Given the description of an element on the screen output the (x, y) to click on. 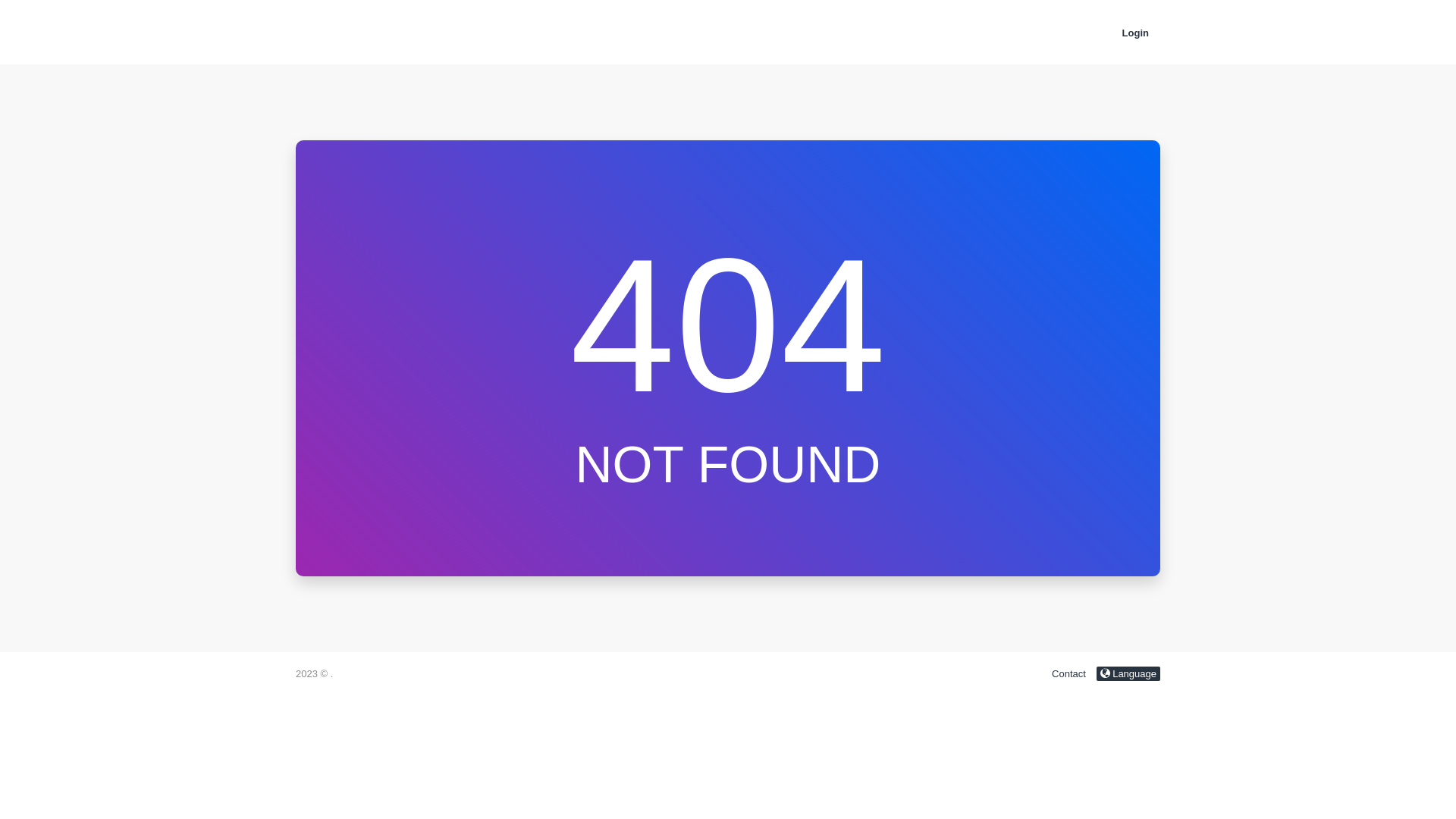
Language Element type: text (1128, 673)
Contact Element type: text (1068, 673)
Login Element type: text (1135, 33)
